Given the description of an element on the screen output the (x, y) to click on. 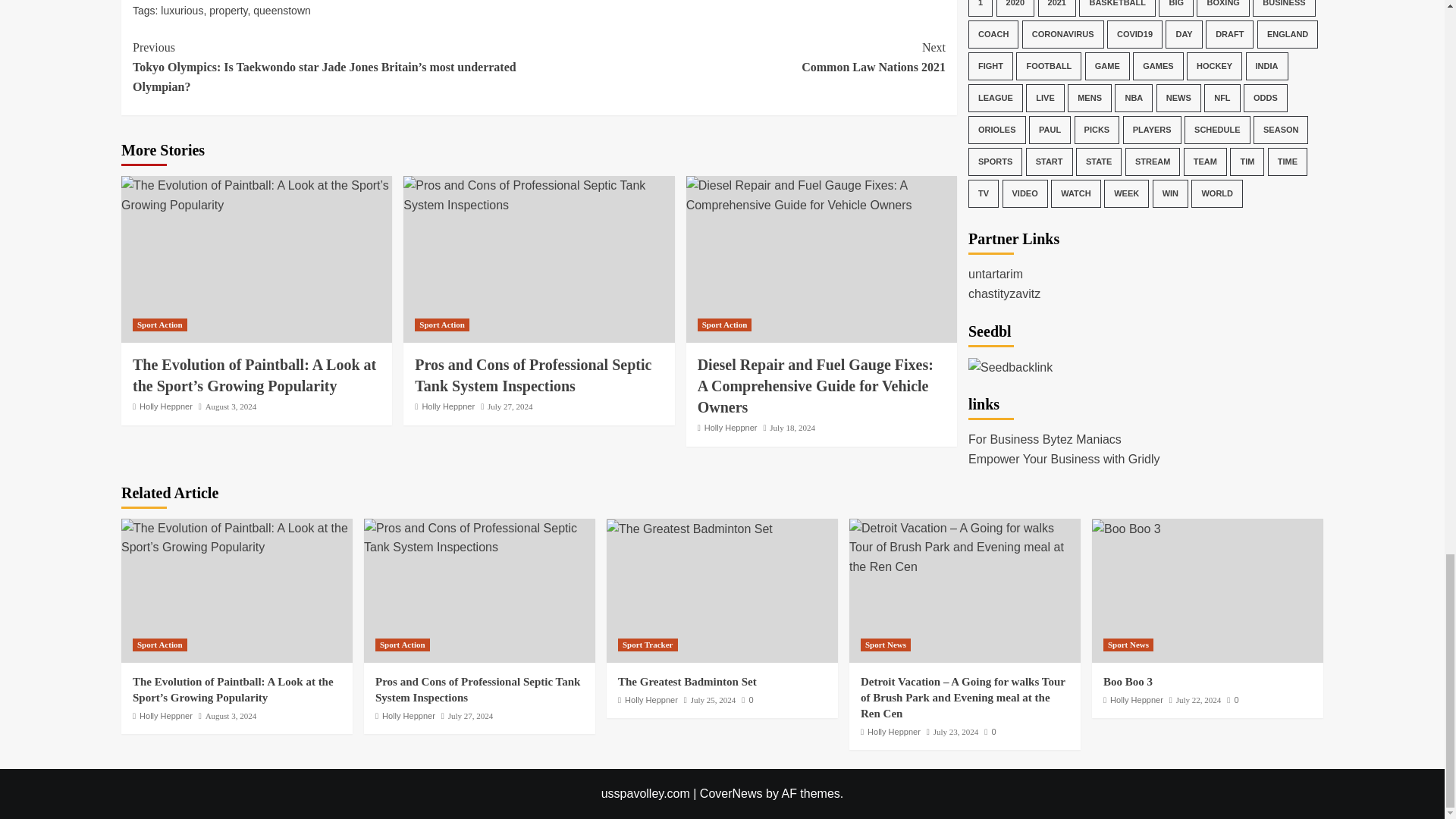
luxurious (181, 10)
Holly Heppner (165, 406)
Pros and Cons of Professional Septic Tank System Inspections (538, 195)
Sport Action (441, 324)
August 3, 2024 (231, 406)
Pros and Cons of Professional Septic Tank System Inspections (479, 537)
property (741, 56)
Sport Action (228, 10)
